Given the description of an element on the screen output the (x, y) to click on. 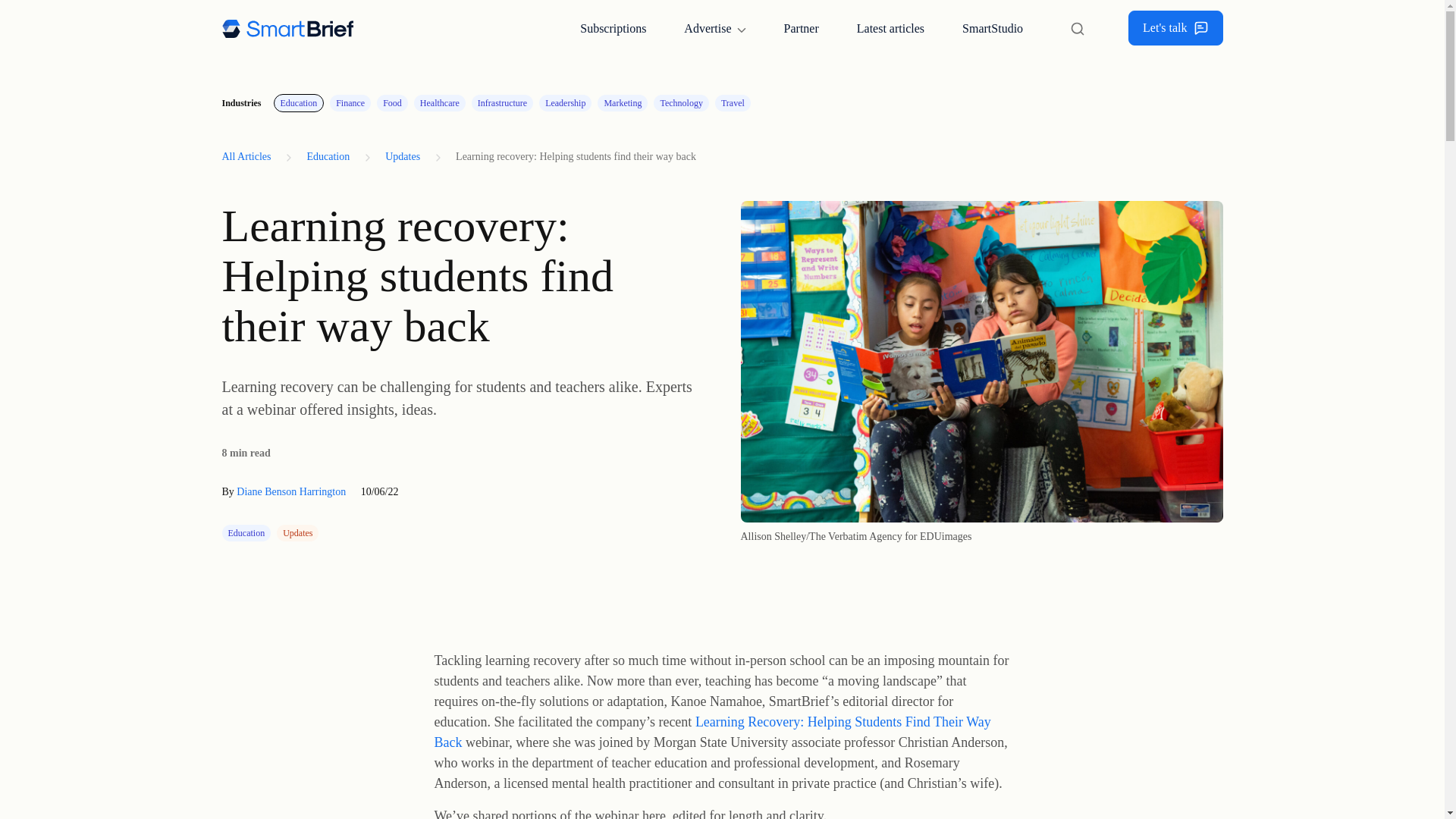
Infrastructure (501, 103)
Diane Benson Harrington (290, 491)
Travel (732, 103)
Leadership (564, 103)
Updates (402, 156)
Subscriptions (613, 28)
All Articles (250, 156)
Advertise (714, 28)
Technology (680, 103)
Let's talk (1175, 27)
